Given the description of an element on the screen output the (x, y) to click on. 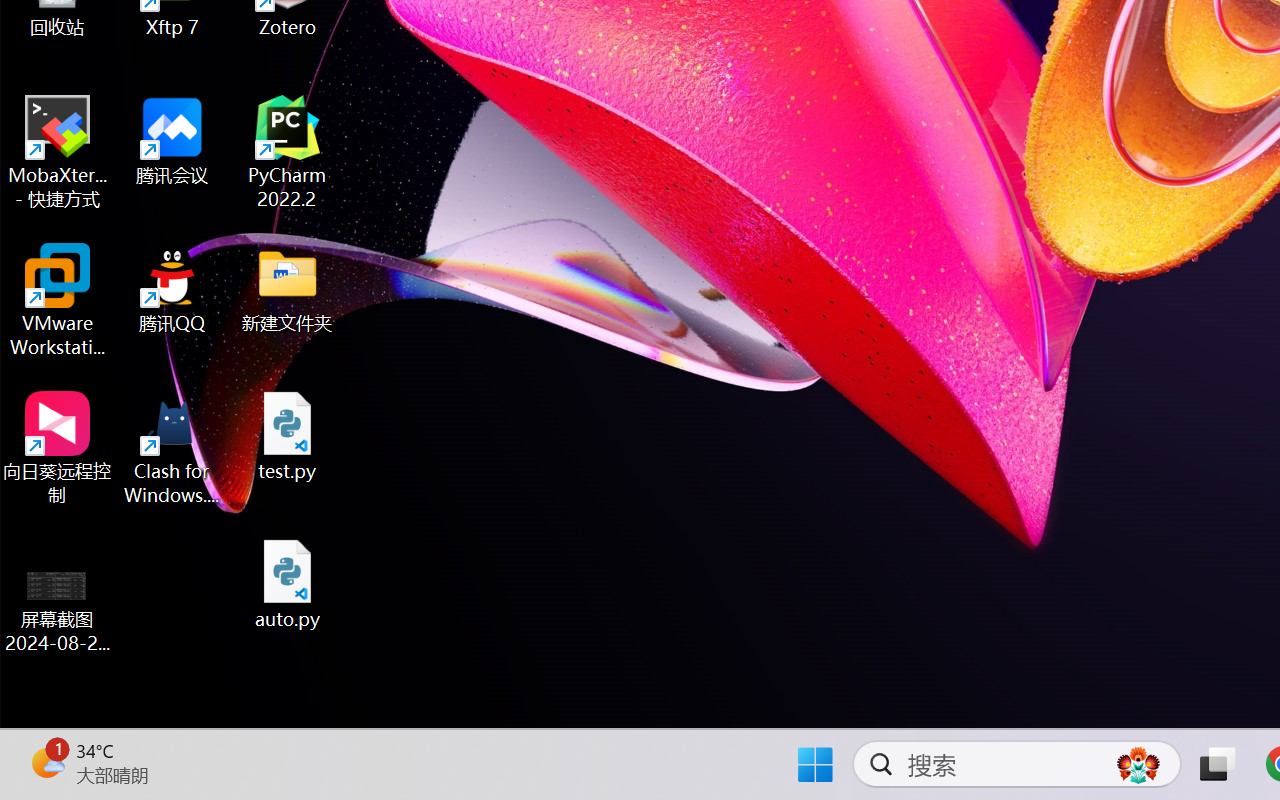
PyCharm 2022.2 (287, 152)
test.py (287, 436)
